Given the description of an element on the screen output the (x, y) to click on. 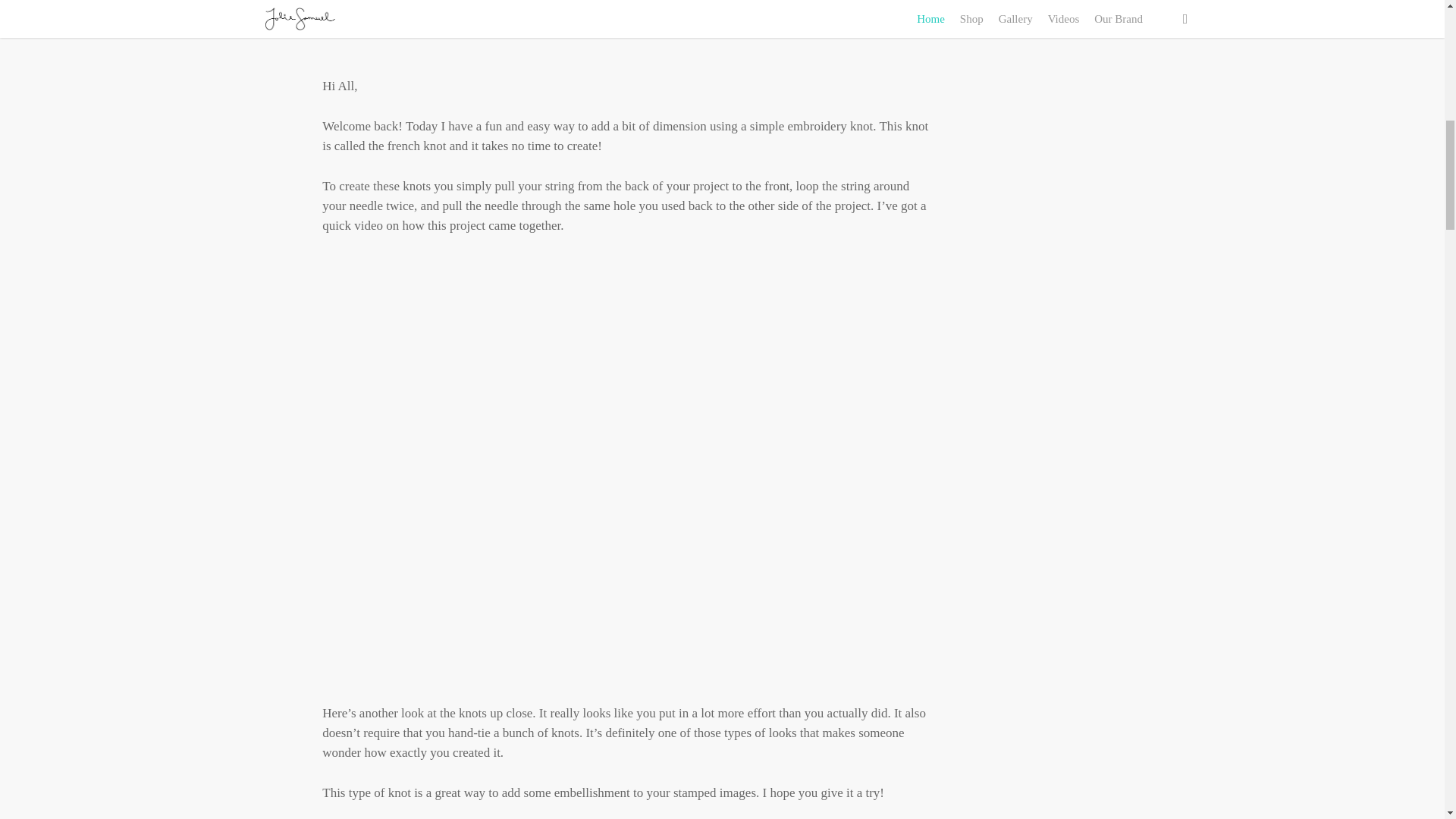
Cards (434, 16)
Jolie Samuel (373, 16)
Posts by Jolie Samuel (373, 16)
